Given the description of an element on the screen output the (x, y) to click on. 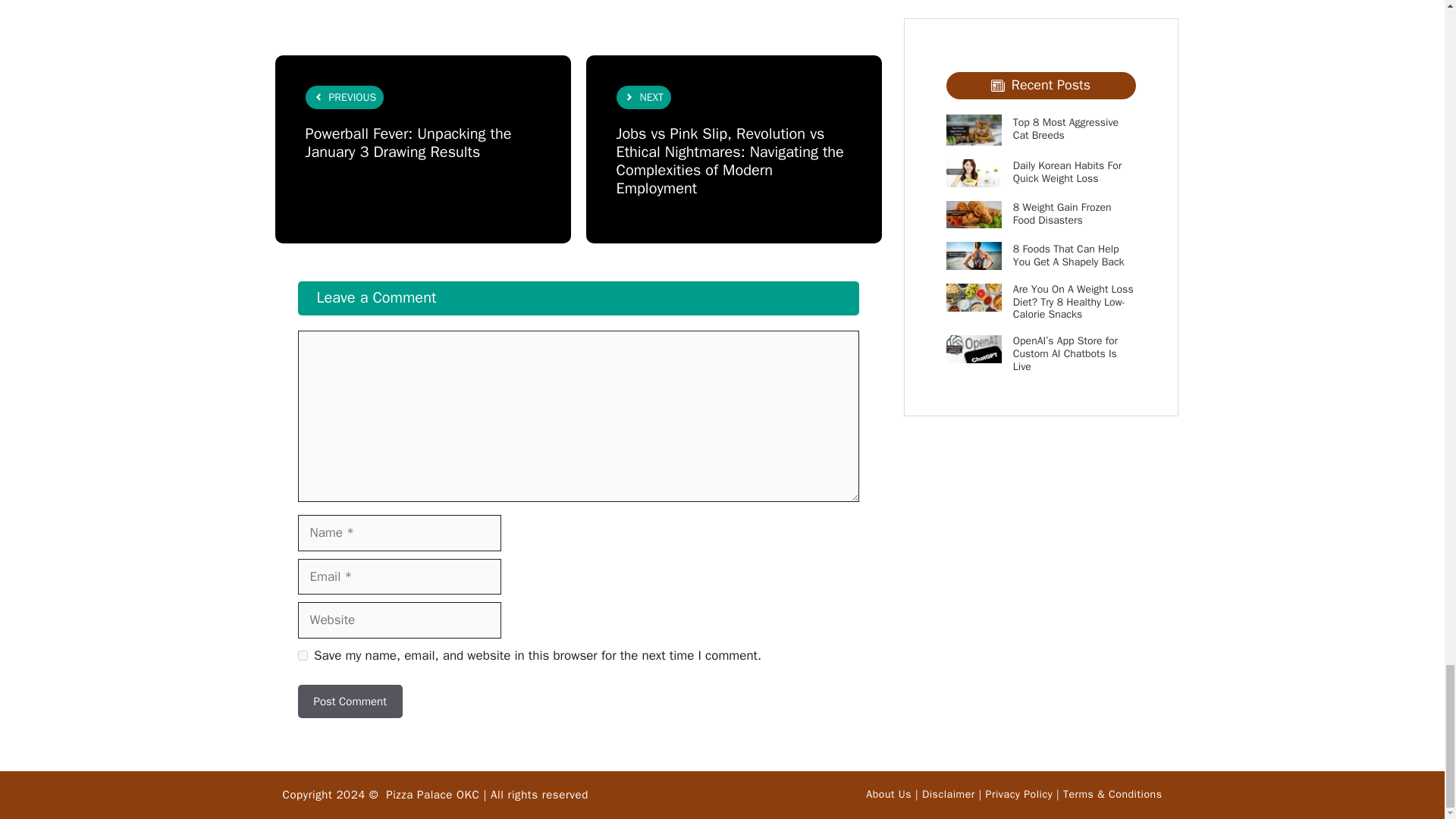
Post Comment (349, 701)
Powerball Fever: Unpacking the January 3 Drawing Results (407, 142)
Post Comment (349, 701)
yes (302, 655)
